Given the description of an element on the screen output the (x, y) to click on. 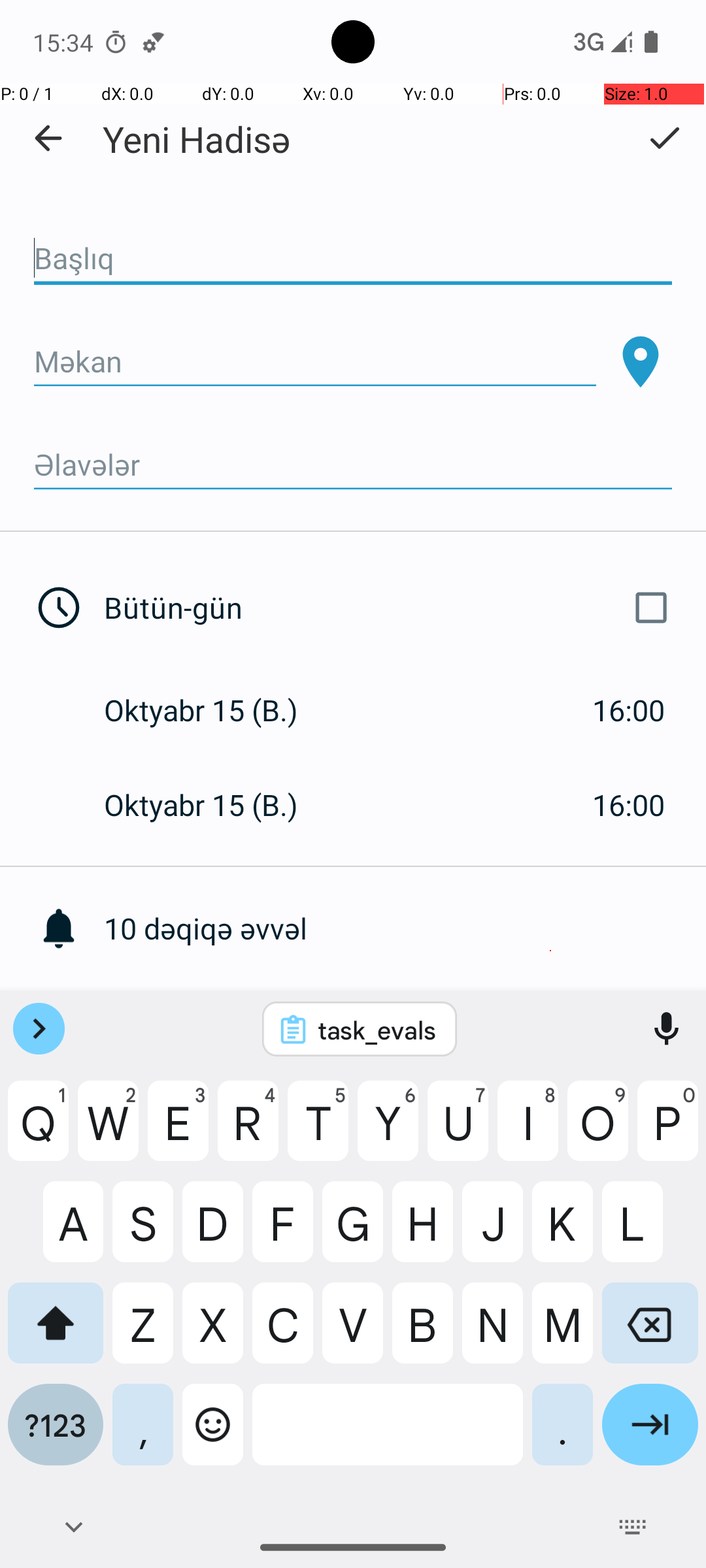
Yeni Hadisə Element type: android.widget.TextView (196, 138)
Saxla Element type: android.widget.Button (664, 137)
Başlıq Element type: android.widget.EditText (352, 258)
Məkan Element type: android.widget.EditText (314, 361)
Əlavələr Element type: android.widget.EditText (352, 465)
Oktyabr 15 (B.) Element type: android.widget.TextView (214, 709)
10 dəqiqə əvvəl Element type: android.widget.TextView (404, 927)
Başqa bir xatırladıcı əlavə et Element type: android.widget.TextView (404, 1022)
Bütün-gün Element type: android.widget.CheckBox (390, 607)
